Given the description of an element on the screen output the (x, y) to click on. 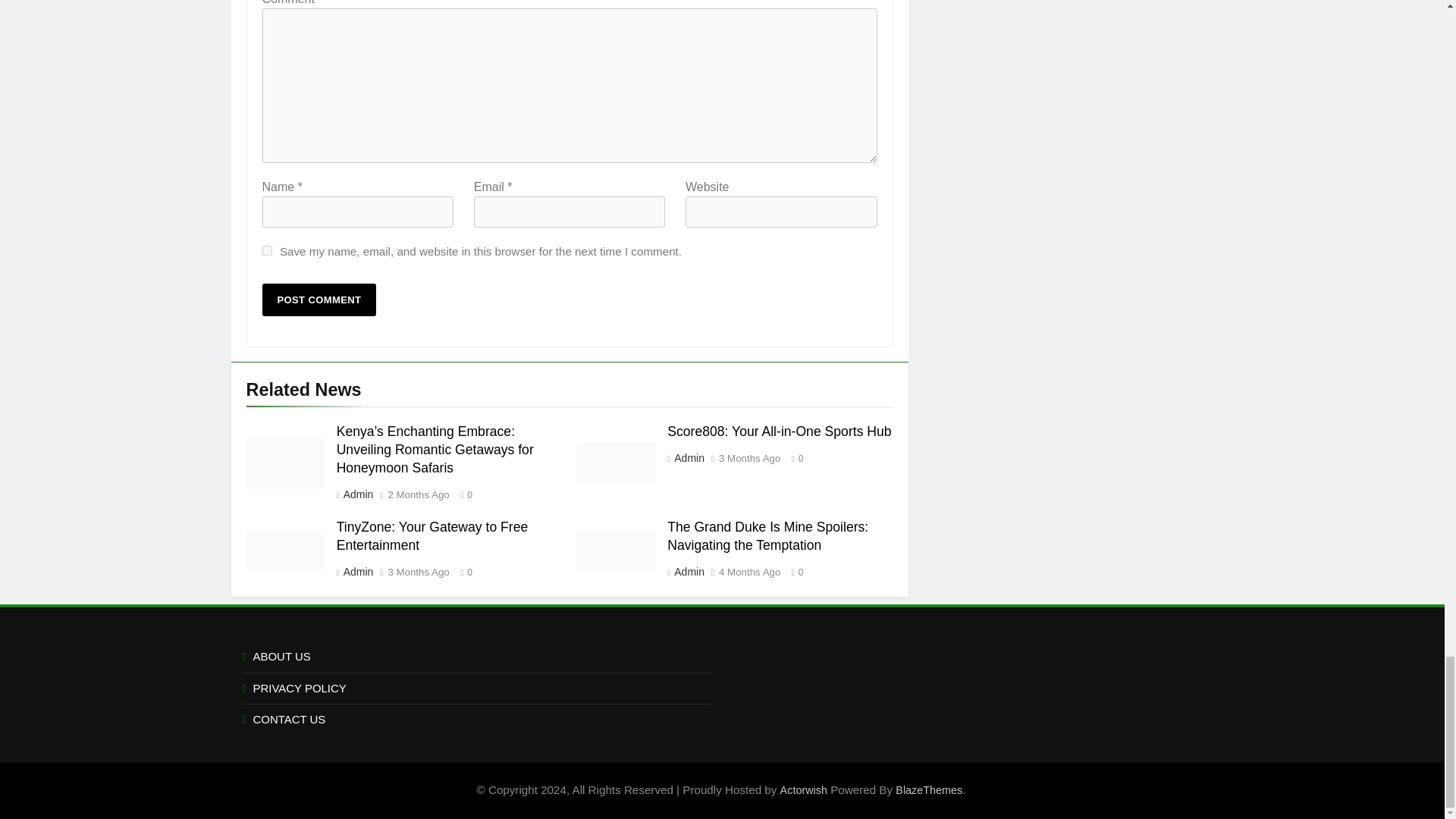
Post Comment (319, 299)
yes (267, 250)
